Given the description of an element on the screen output the (x, y) to click on. 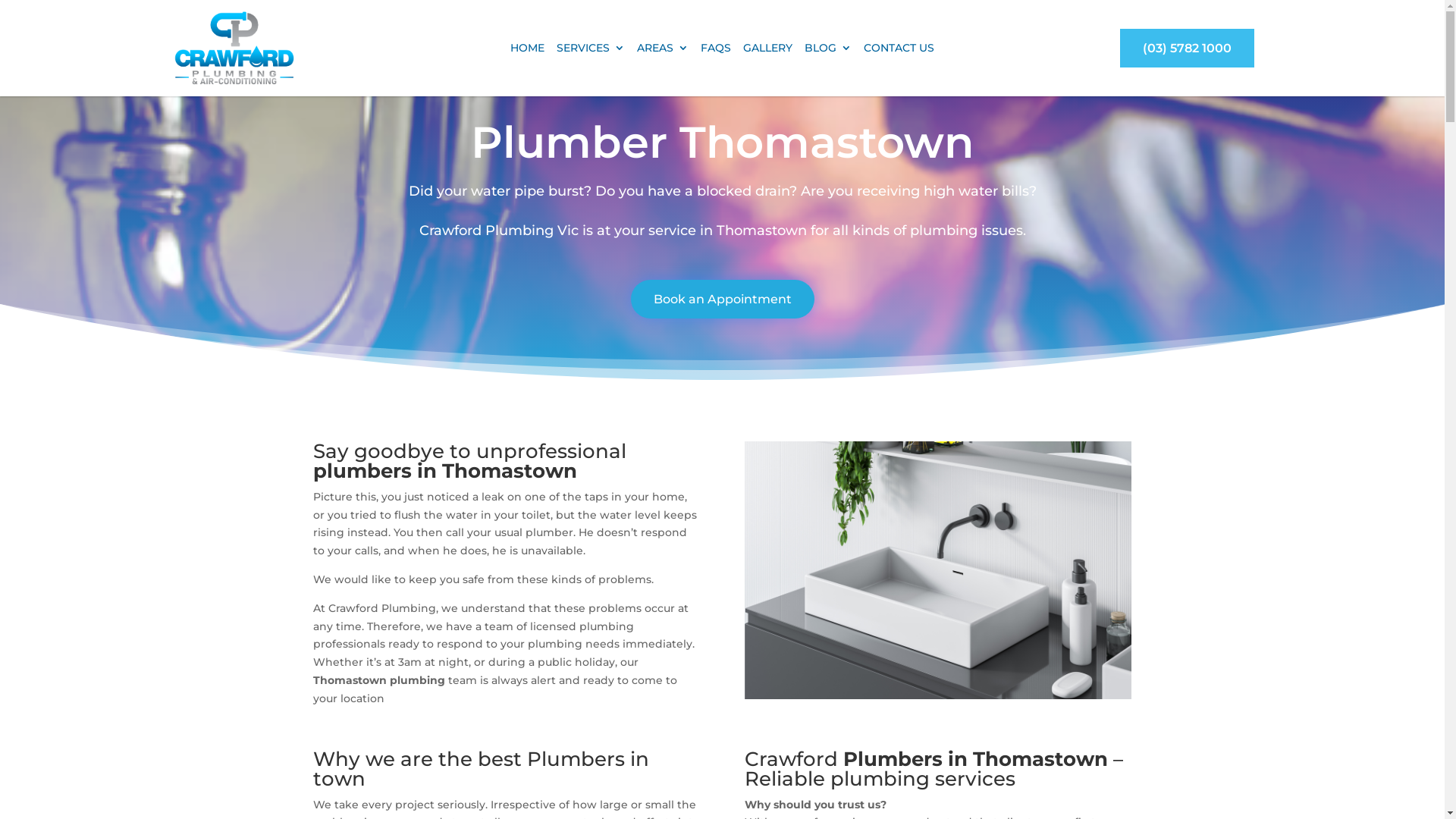
BLOG Element type: text (827, 50)
GALLERY Element type: text (767, 50)
CrawfordPlumbingAC_Nonumber_Colour_png-01 Element type: hover (234, 47)
SERVICES Element type: text (590, 50)
FAQS Element type: text (715, 50)
Book an Appointment Element type: text (722, 298)
HOME Element type: text (527, 50)
AREAS Element type: text (662, 50)
(03) 5782 1000 Element type: text (1187, 47)
CONTACT US Element type: text (898, 50)
Plumber Thomastown Element type: hover (937, 570)
